Given the description of an element on the screen output the (x, y) to click on. 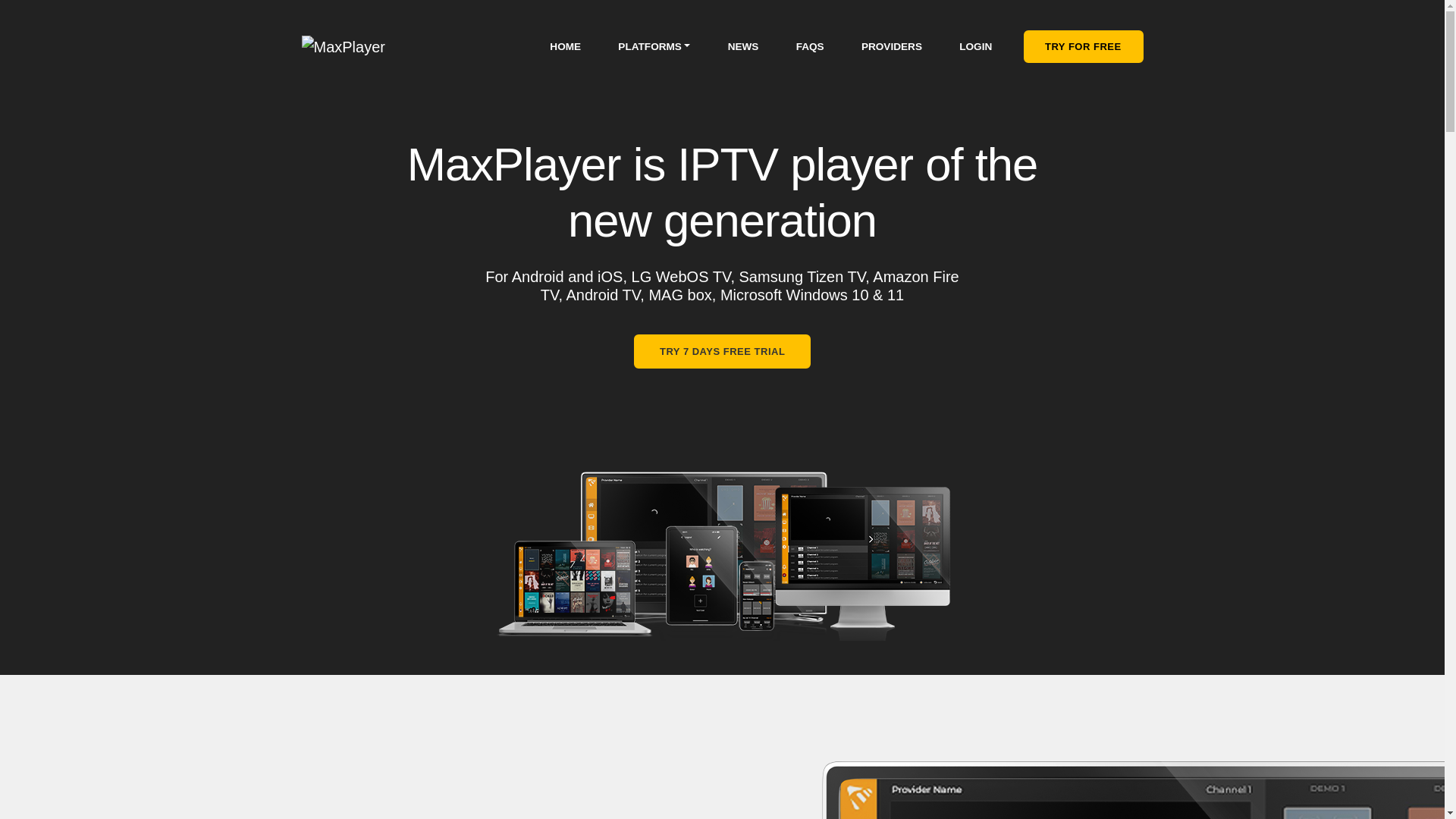
Try 7 days free trial  (721, 351)
PROVIDERS (891, 45)
Amazon (900, 278)
LOGIN (975, 45)
Try For Free  (1082, 46)
Fire TV (749, 287)
Microsoft (750, 295)
HOME (565, 45)
PLATFORMS (653, 45)
LG WebOS TV (680, 279)
